Given the description of an element on the screen output the (x, y) to click on. 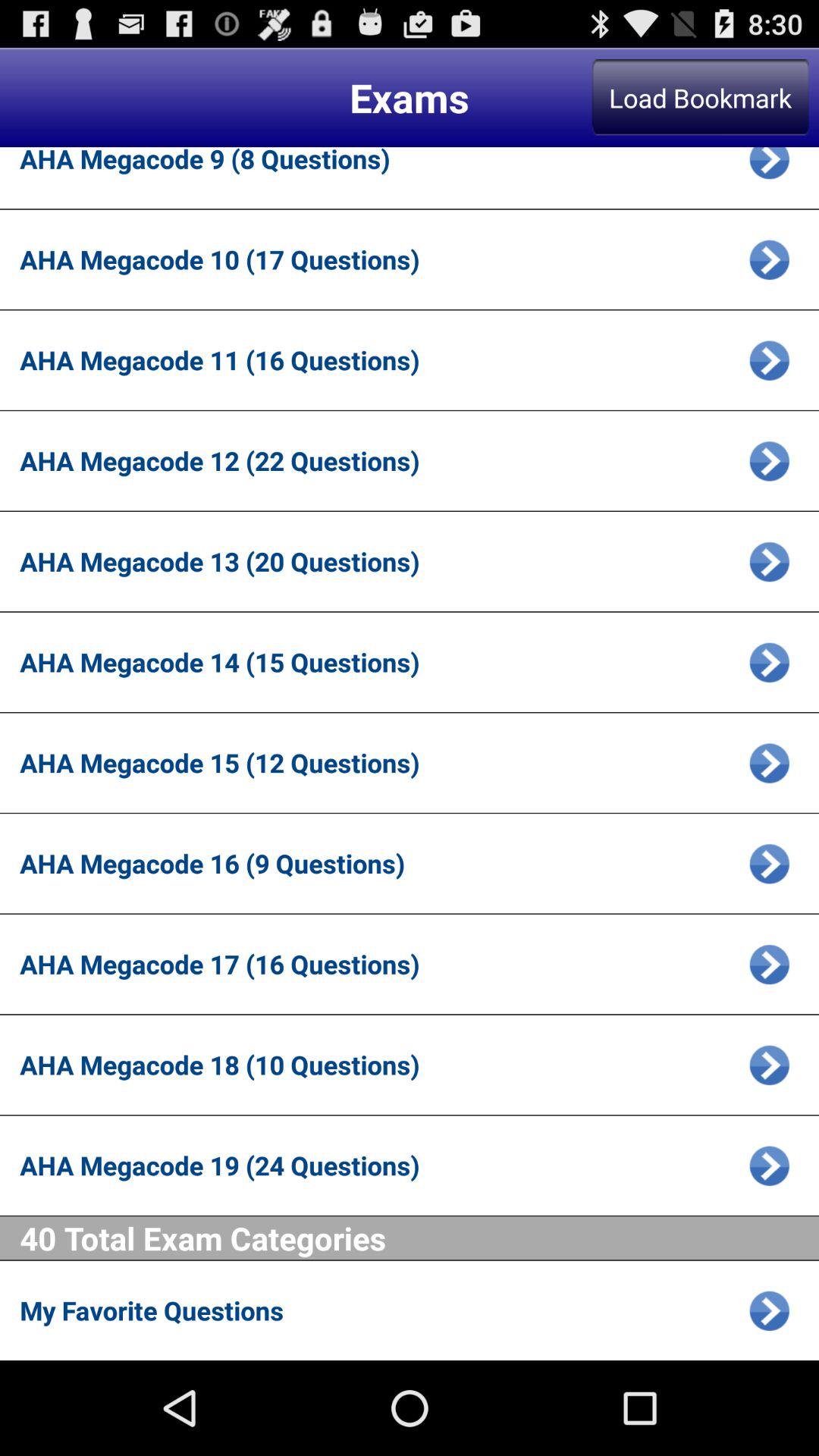
go to aha megacode 9 (769, 167)
